Given the description of an element on the screen output the (x, y) to click on. 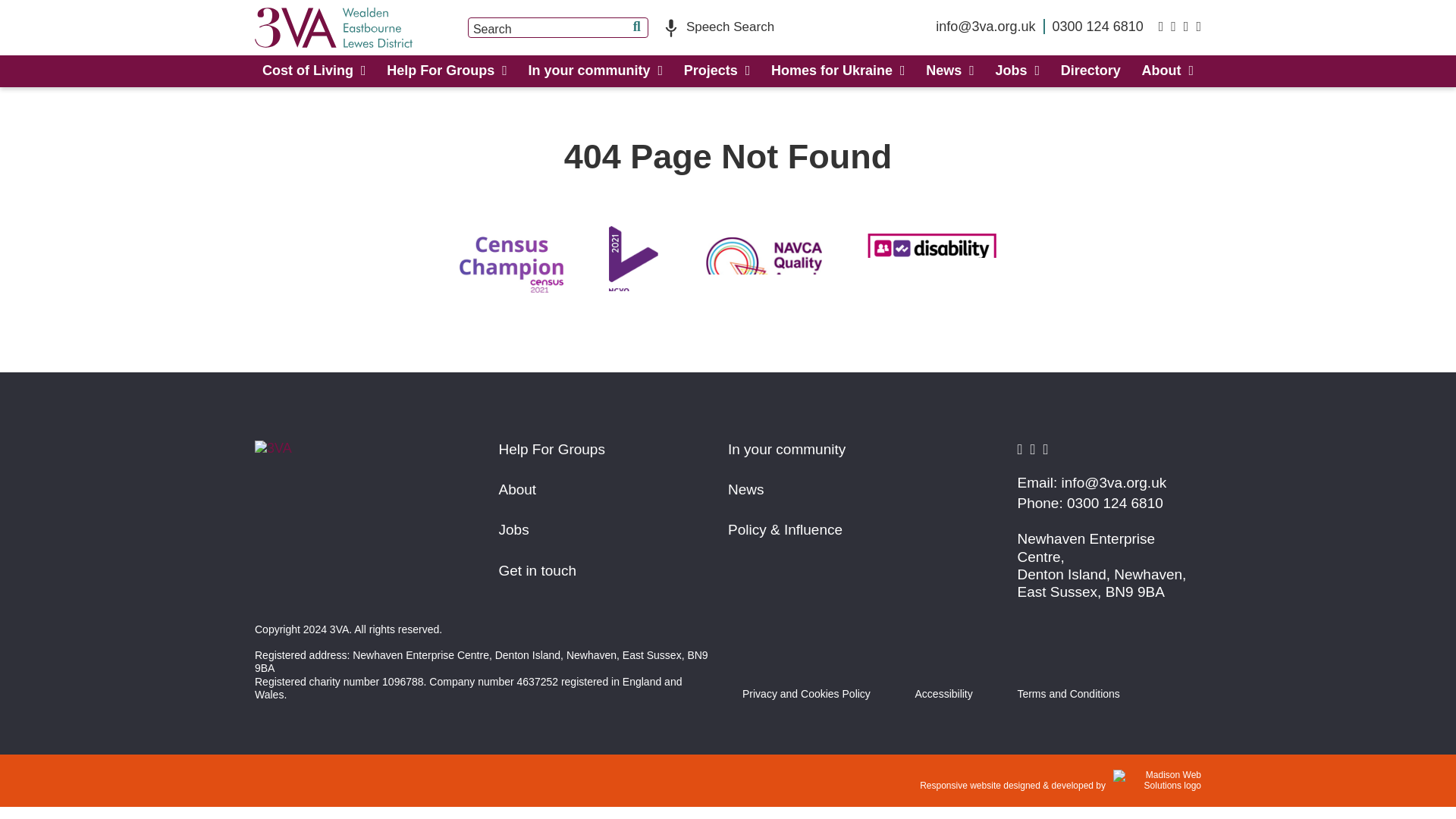
0300 124 6810 (1098, 26)
Projects (717, 70)
Speech Search (718, 27)
Cost of Living (314, 70)
Help For Groups (446, 70)
In your community (594, 70)
